Given the description of an element on the screen output the (x, y) to click on. 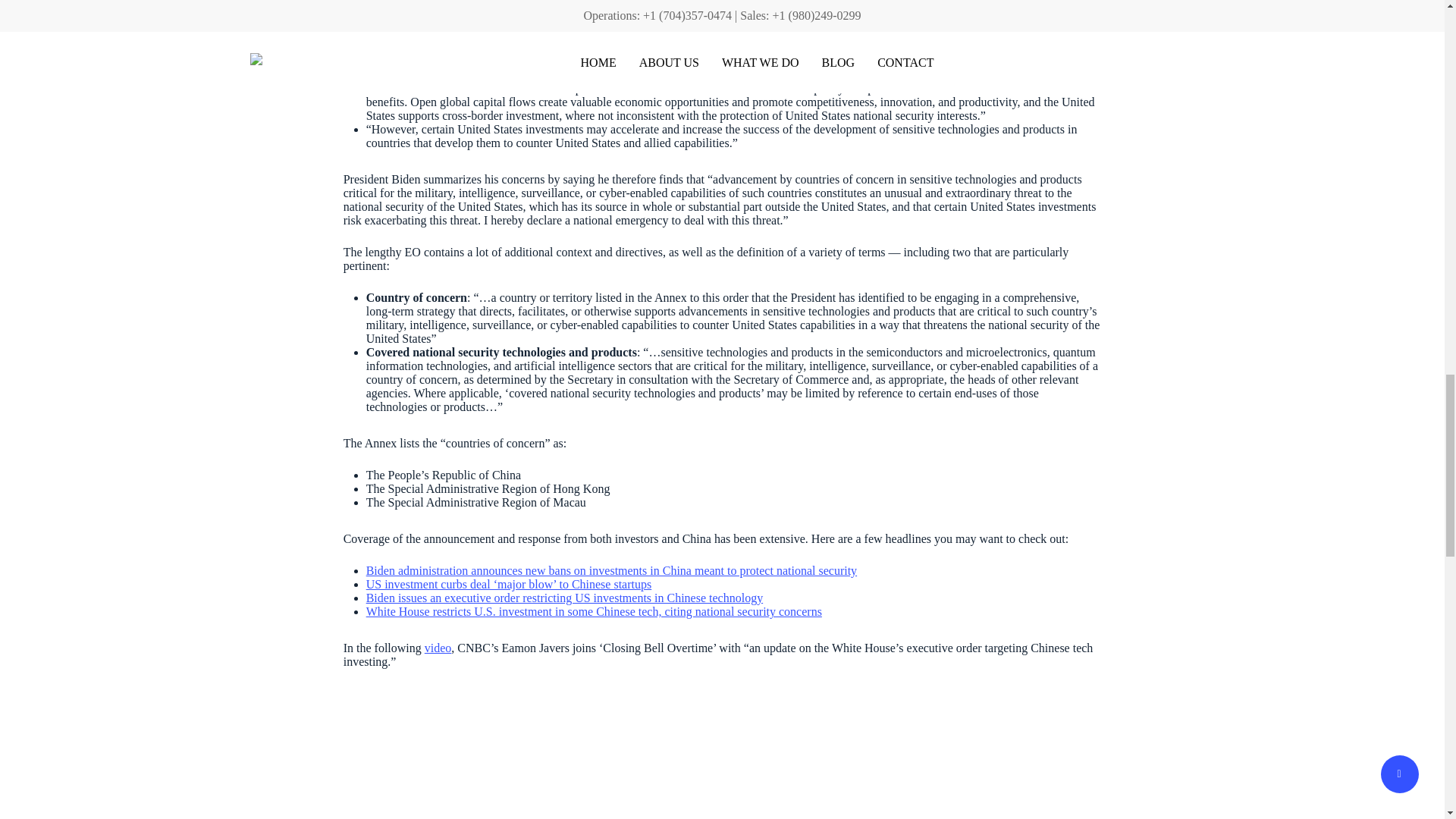
YouTube video player (555, 753)
video (438, 647)
